Given the description of an element on the screen output the (x, y) to click on. 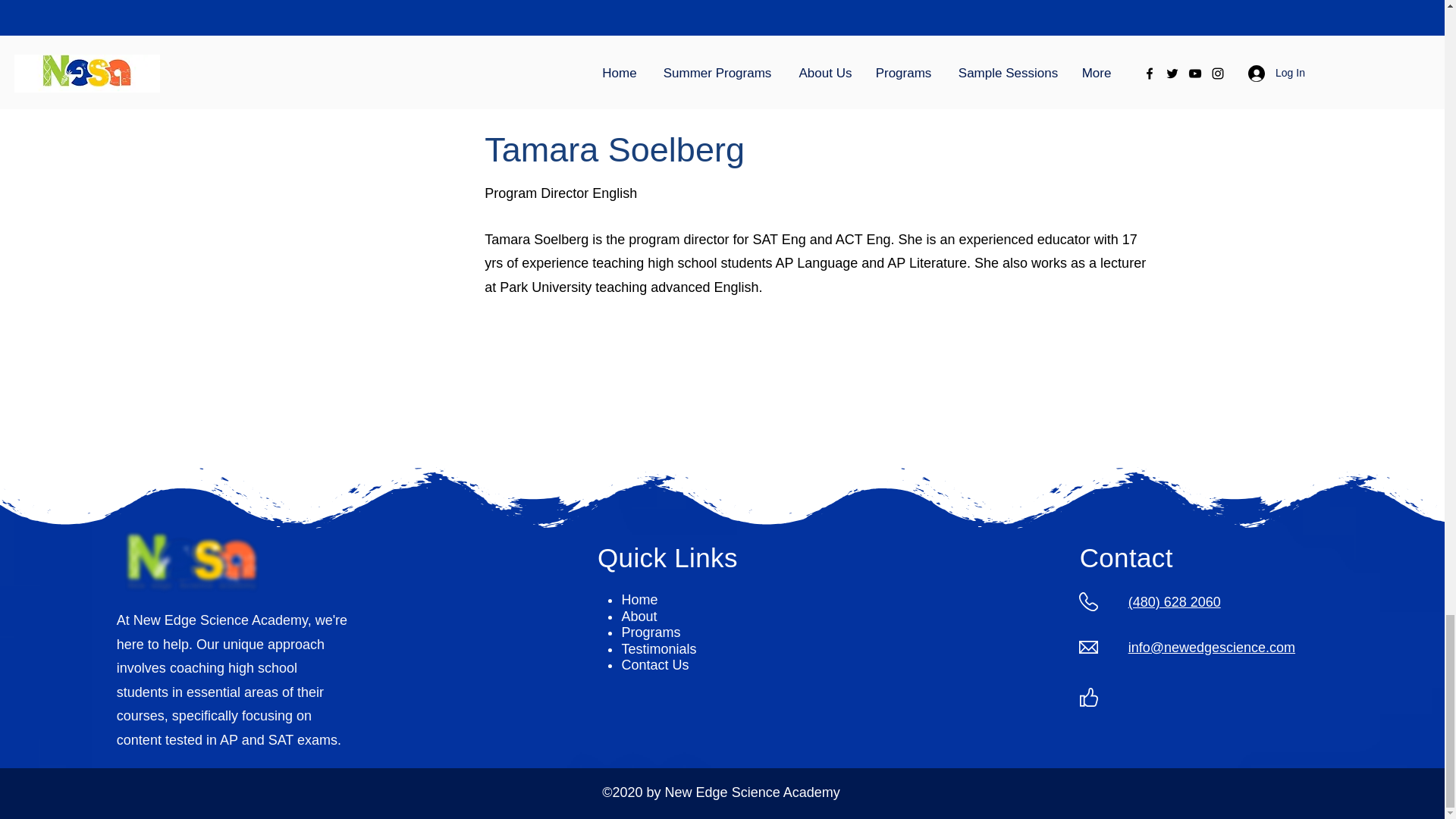
Programs (650, 631)
Testimonials (658, 648)
Contact Us (654, 664)
About (638, 616)
Home (639, 599)
